Given the description of an element on the screen output the (x, y) to click on. 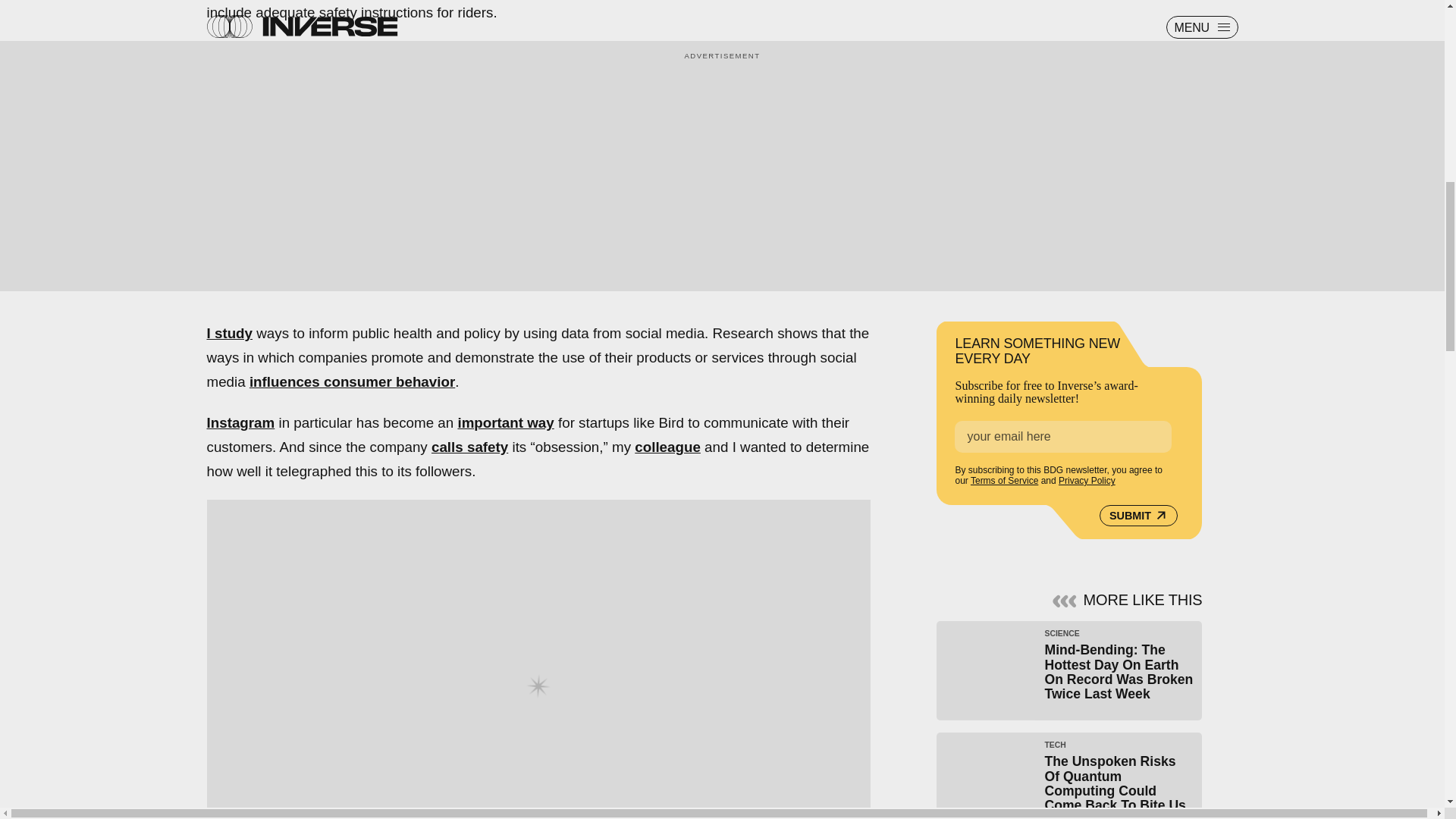
Instagram (240, 422)
colleague (667, 446)
calls safety (469, 446)
SUBMIT (1138, 515)
important way (505, 422)
Terms of Service (1004, 480)
I study (228, 333)
influences consumer behavior (351, 381)
Privacy Policy (1086, 480)
